Given the description of an element on the screen output the (x, y) to click on. 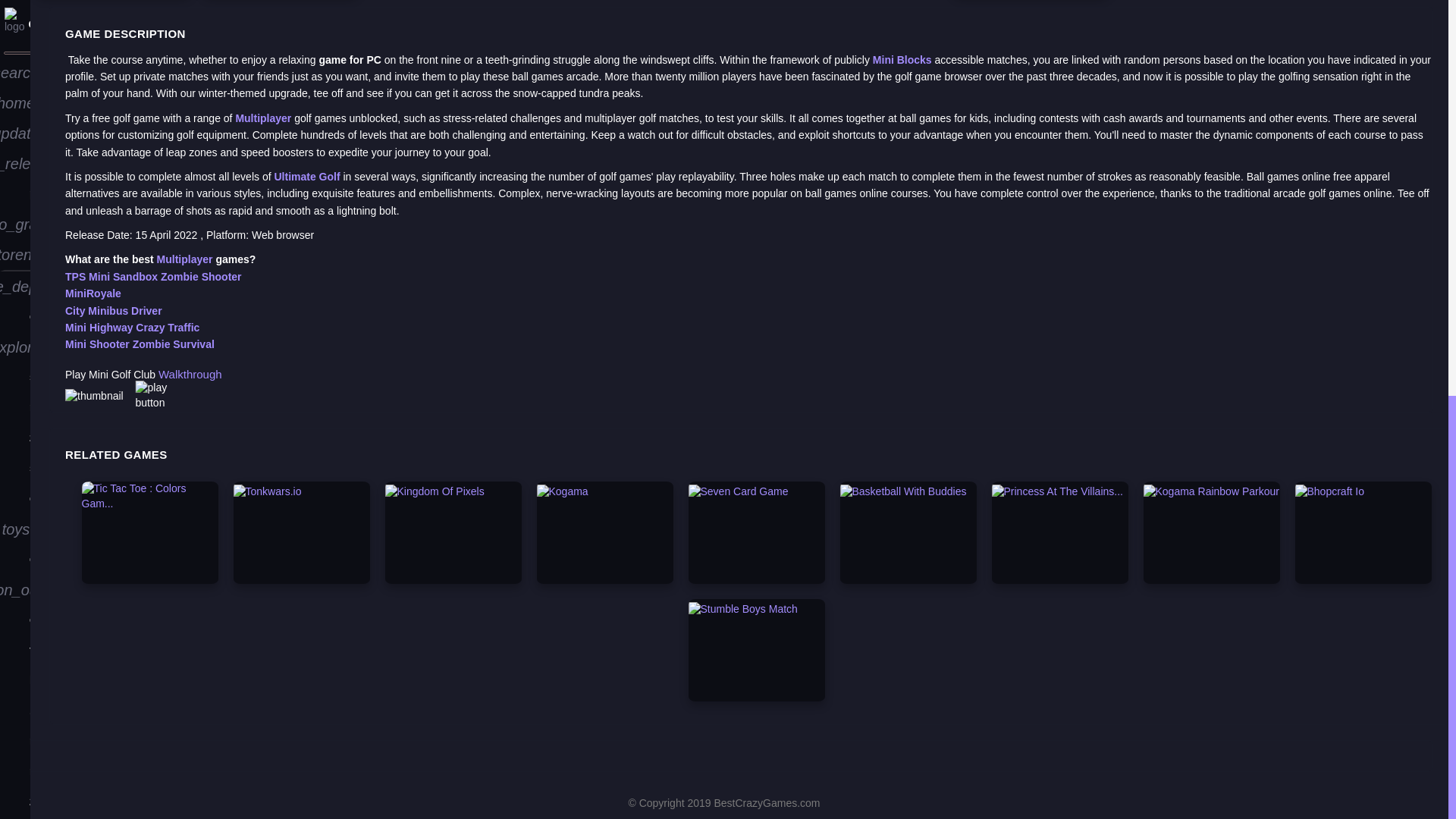
skill (15, 309)
shooting (15, 127)
multiplayer (15, 10)
tank (15, 248)
puzzle (15, 66)
drifting (15, 339)
2 player (15, 36)
tag (15, 431)
motorcycle (15, 369)
fort (15, 218)
our blog (15, 463)
